Given the description of an element on the screen output the (x, y) to click on. 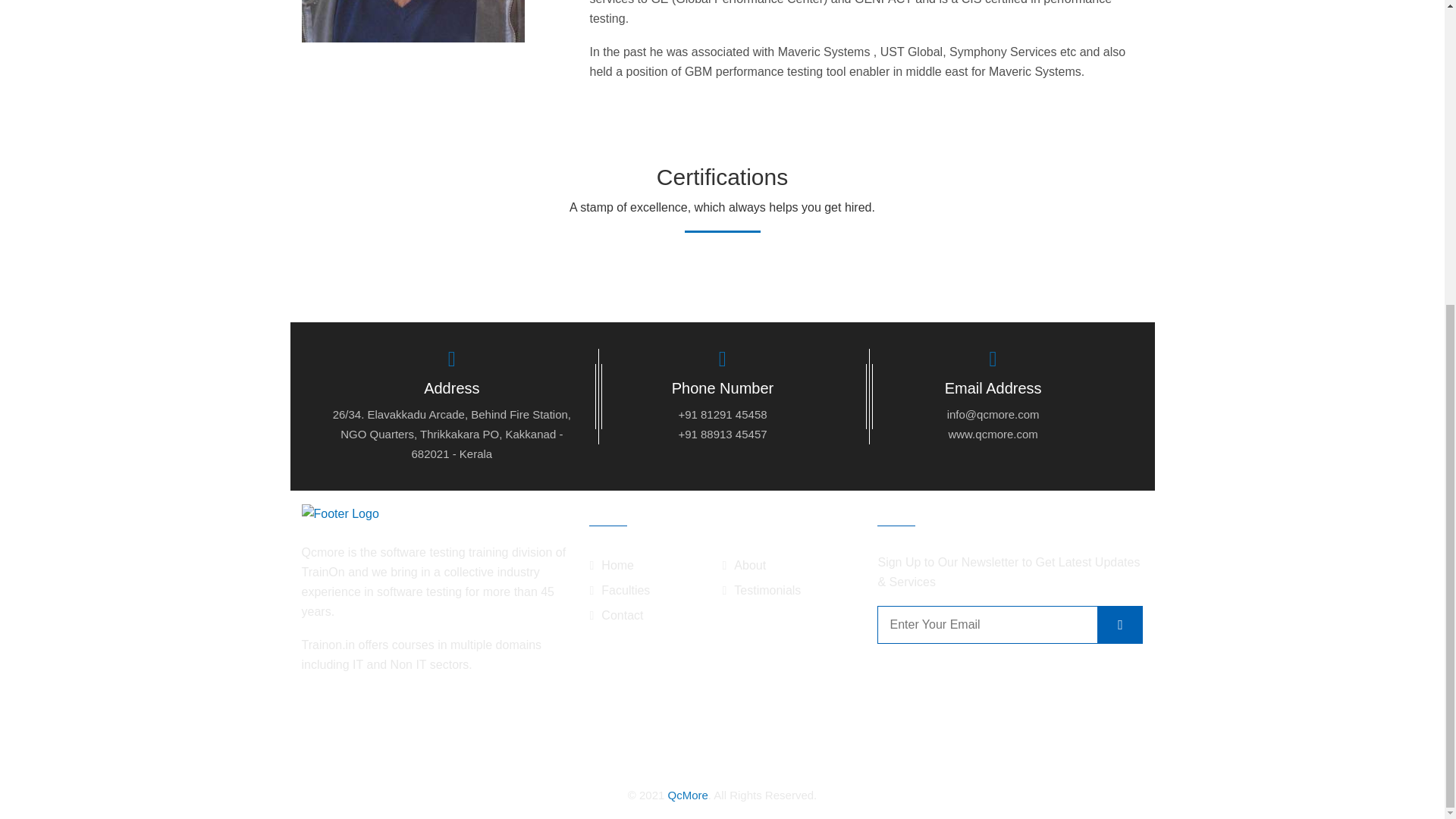
Home (611, 565)
Testimonials (761, 590)
QcMore (686, 794)
Faculties (619, 590)
Contact (616, 615)
About (743, 565)
